Given the description of an element on the screen output the (x, y) to click on. 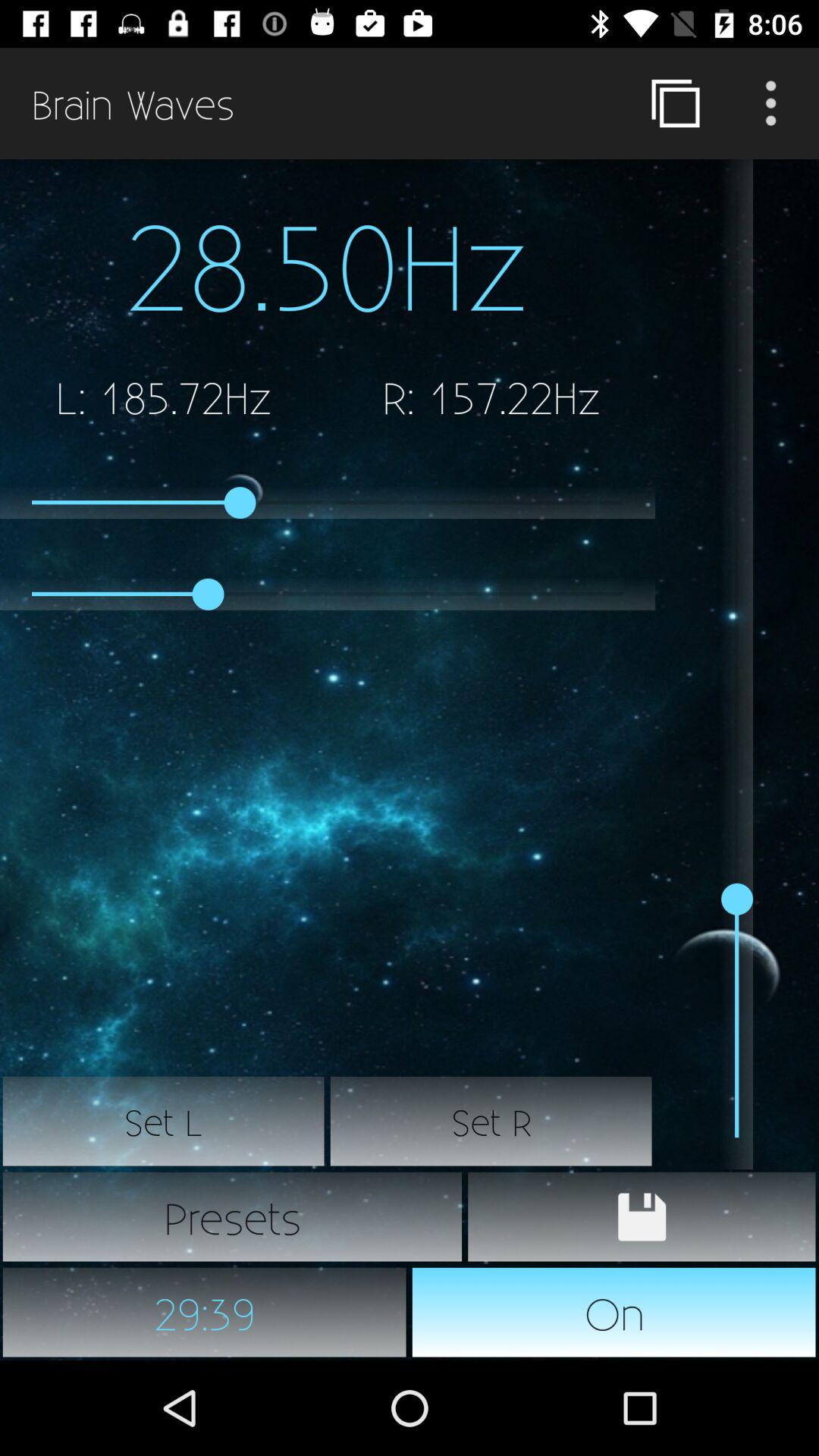
select the set l (163, 1121)
